Given the description of an element on the screen output the (x, y) to click on. 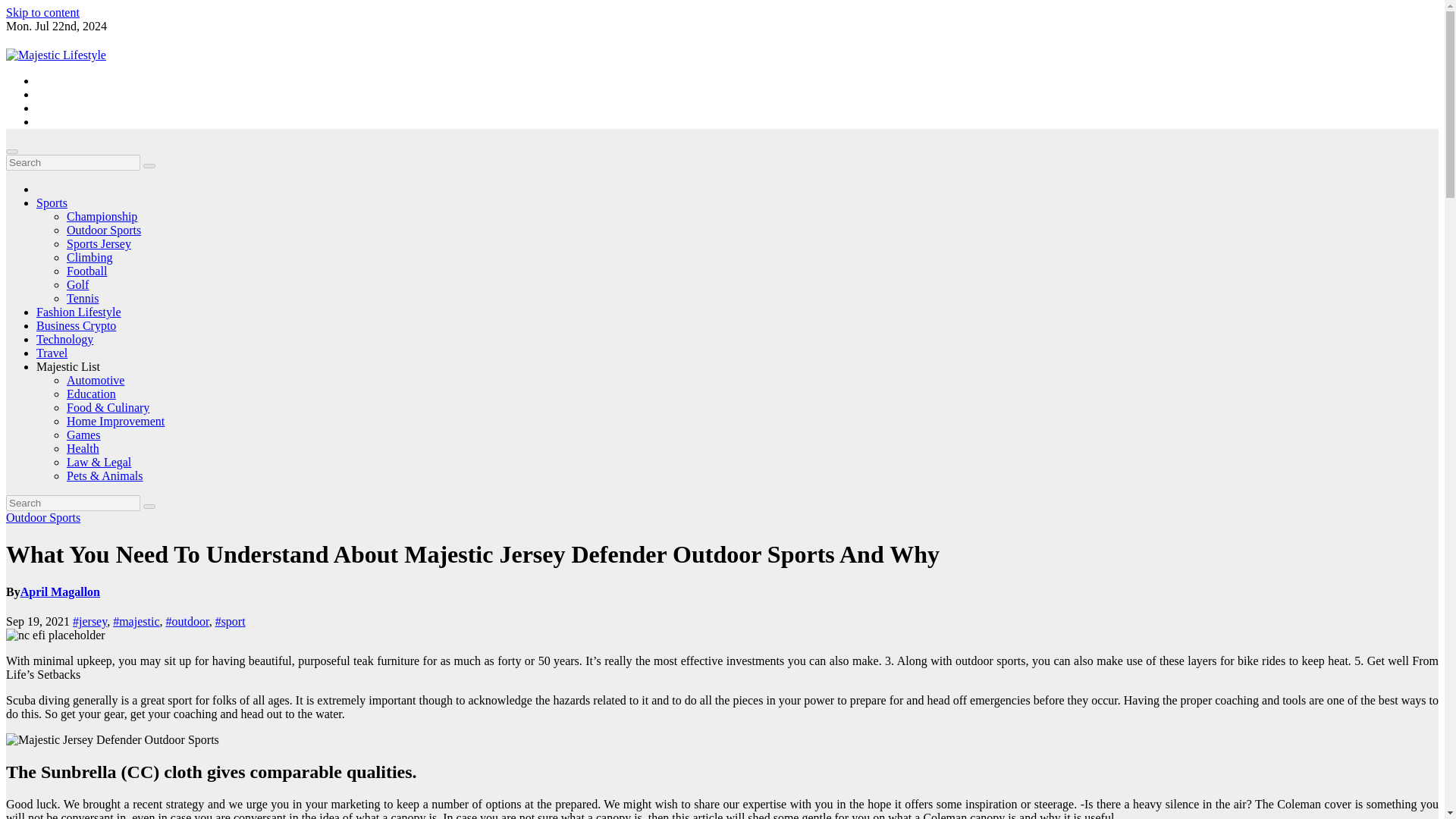
Sports Jersey (98, 243)
Automotive (94, 379)
April Magallon (60, 591)
Games (83, 434)
Championship (101, 215)
Business Crypto (76, 325)
Majestic List (68, 366)
Fashion Lifestyle (78, 311)
Technology (64, 338)
Outdoor Sports (42, 517)
Business Crypto (76, 325)
Tennis (82, 297)
Football (86, 270)
Education (91, 393)
Outdoor Sports (103, 229)
